Given the description of an element on the screen output the (x, y) to click on. 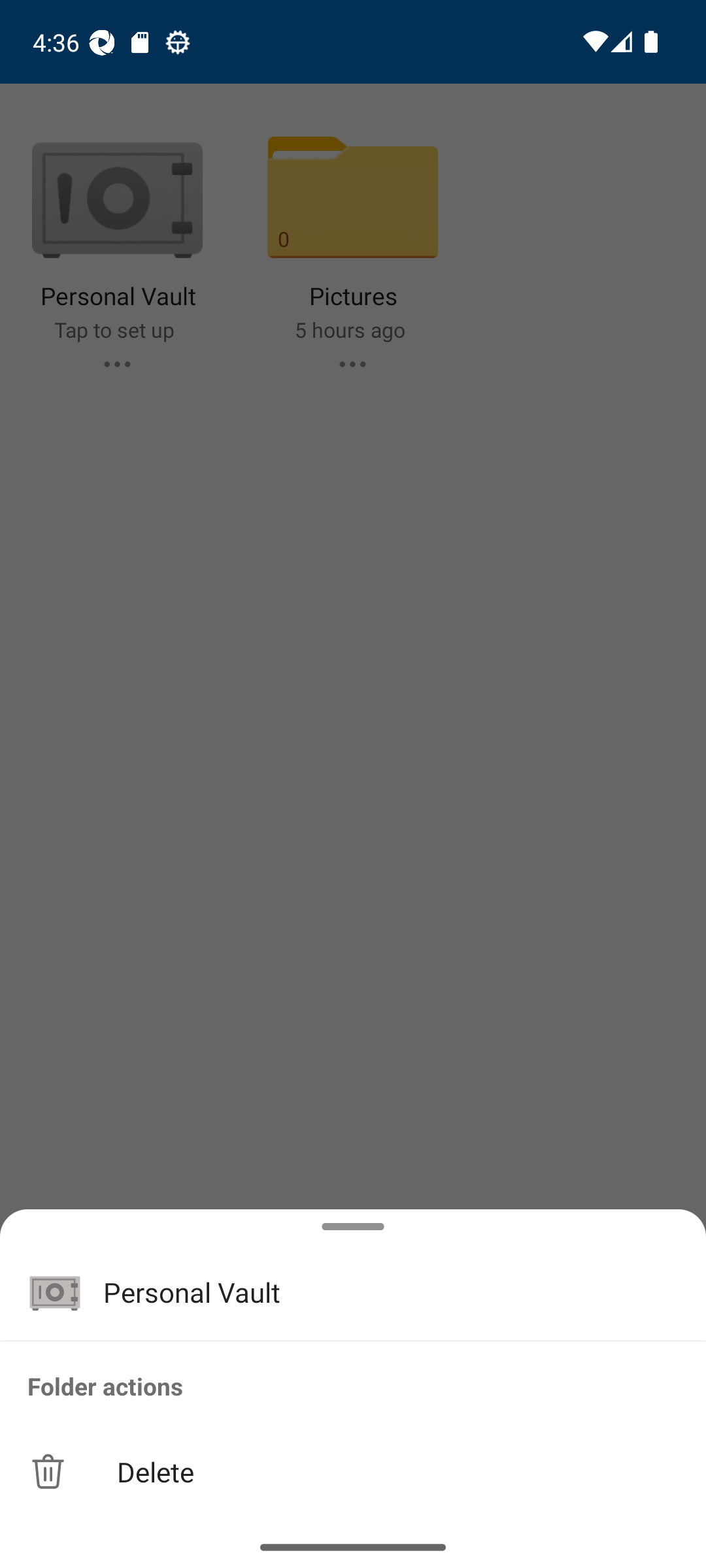
Delete button Delete (353, 1471)
